Given the description of an element on the screen output the (x, y) to click on. 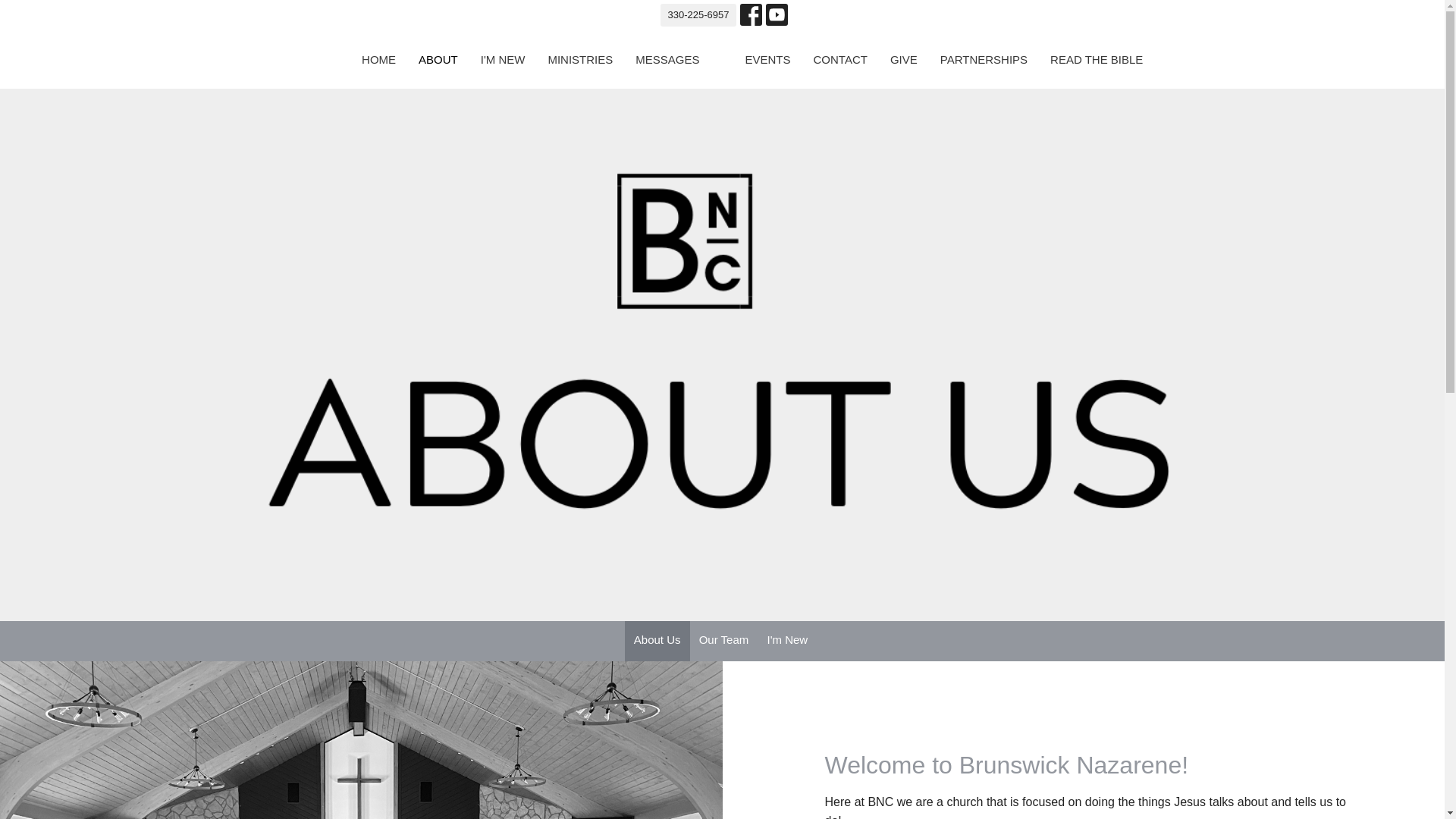
330-225-6957 (698, 15)
MINISTRIES (579, 59)
ABOUT (438, 59)
I'M NEW (502, 59)
MESSAGES (666, 59)
CONTACT (840, 59)
PARTNERSHIPS (983, 59)
Our Team (724, 640)
EVENTS (767, 59)
READ THE BIBLE (1095, 59)
About Us (657, 640)
I'm New (786, 640)
HOME (378, 59)
GIVE (903, 59)
